Given the description of an element on the screen output the (x, y) to click on. 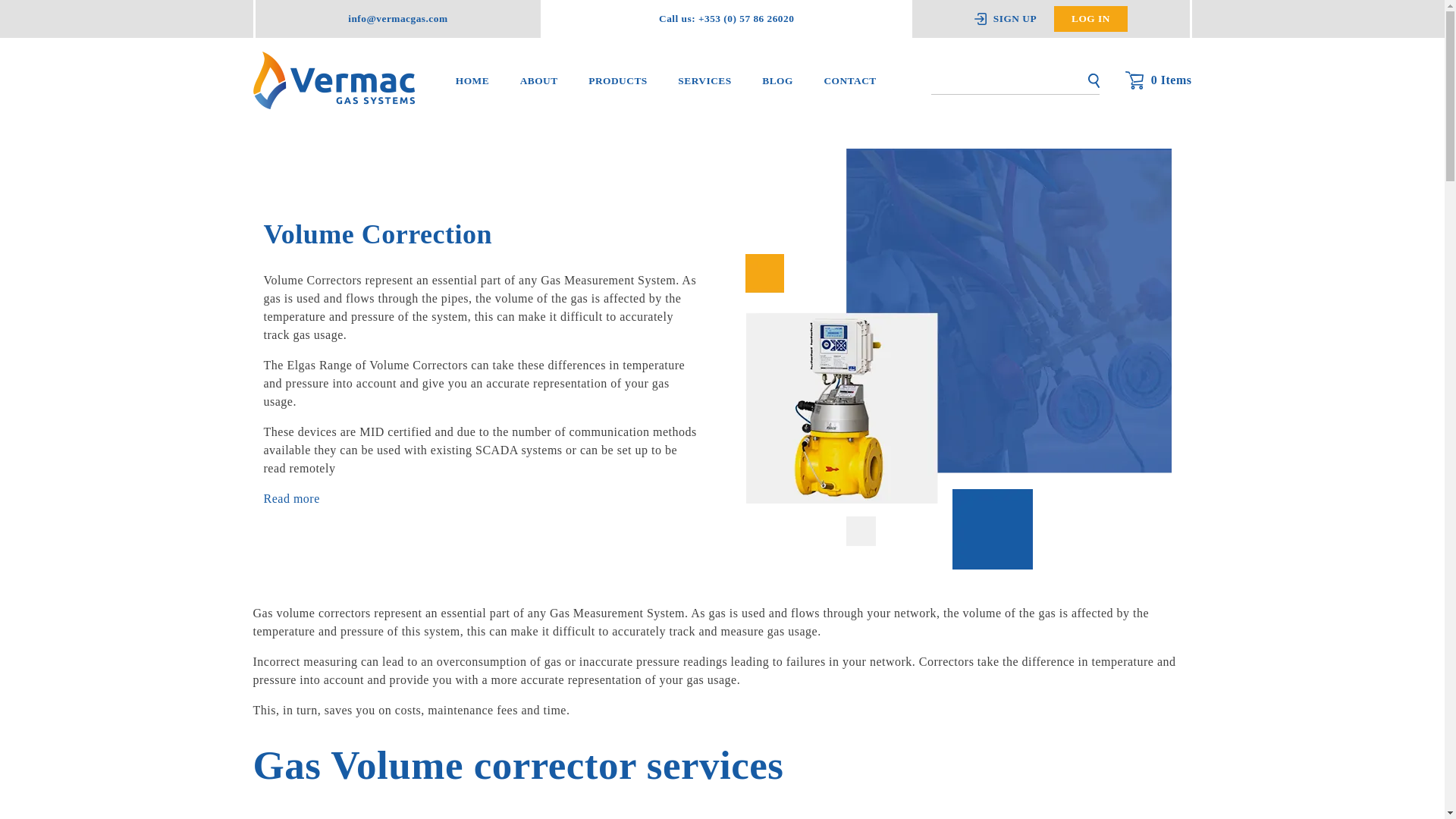
BLOG (777, 80)
LOG IN (1090, 18)
PRODUCTS (618, 80)
Read more (291, 498)
ABOUT (539, 80)
HOME (472, 80)
0 Items (1158, 80)
View my cart (1158, 80)
SIGN UP (1014, 18)
CONTACT (849, 80)
